Given the description of an element on the screen output the (x, y) to click on. 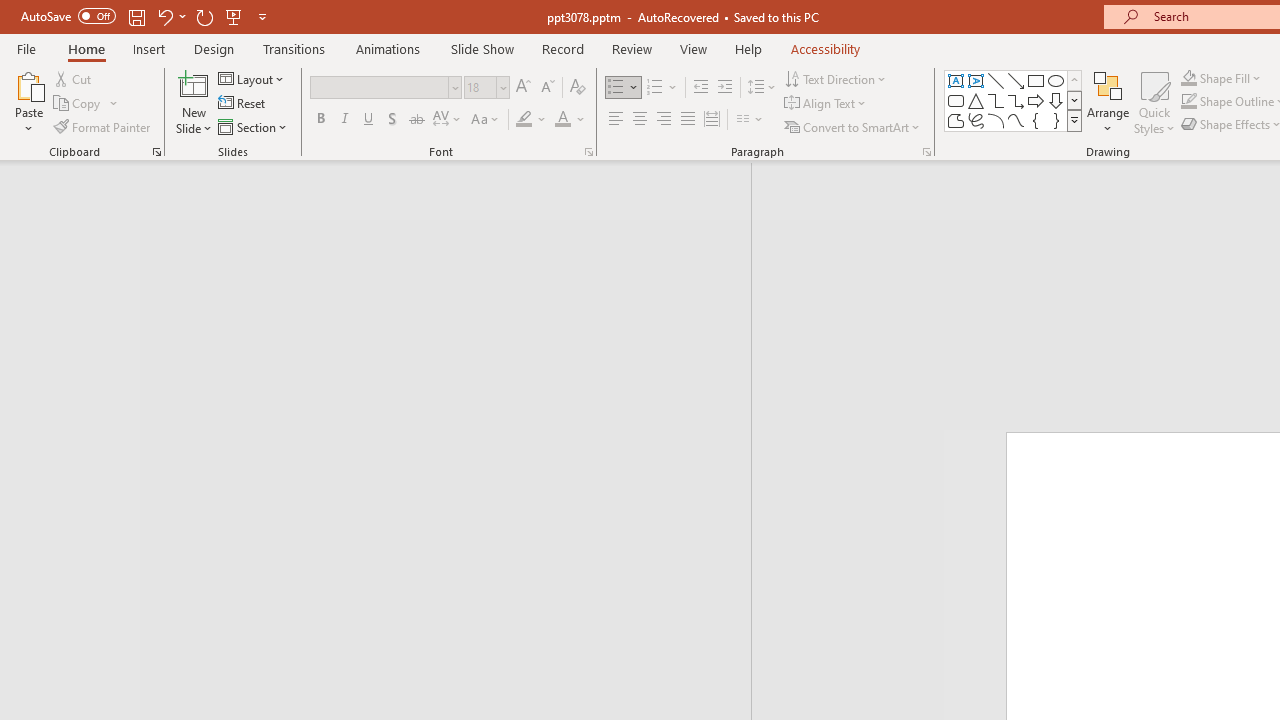
Recycle Bin (37, 39)
New Text Document (861, 340)
Microsoft Edge (37, 340)
Google Chrome (37, 242)
Acrobat Reader DC (37, 144)
